Given the description of an element on the screen output the (x, y) to click on. 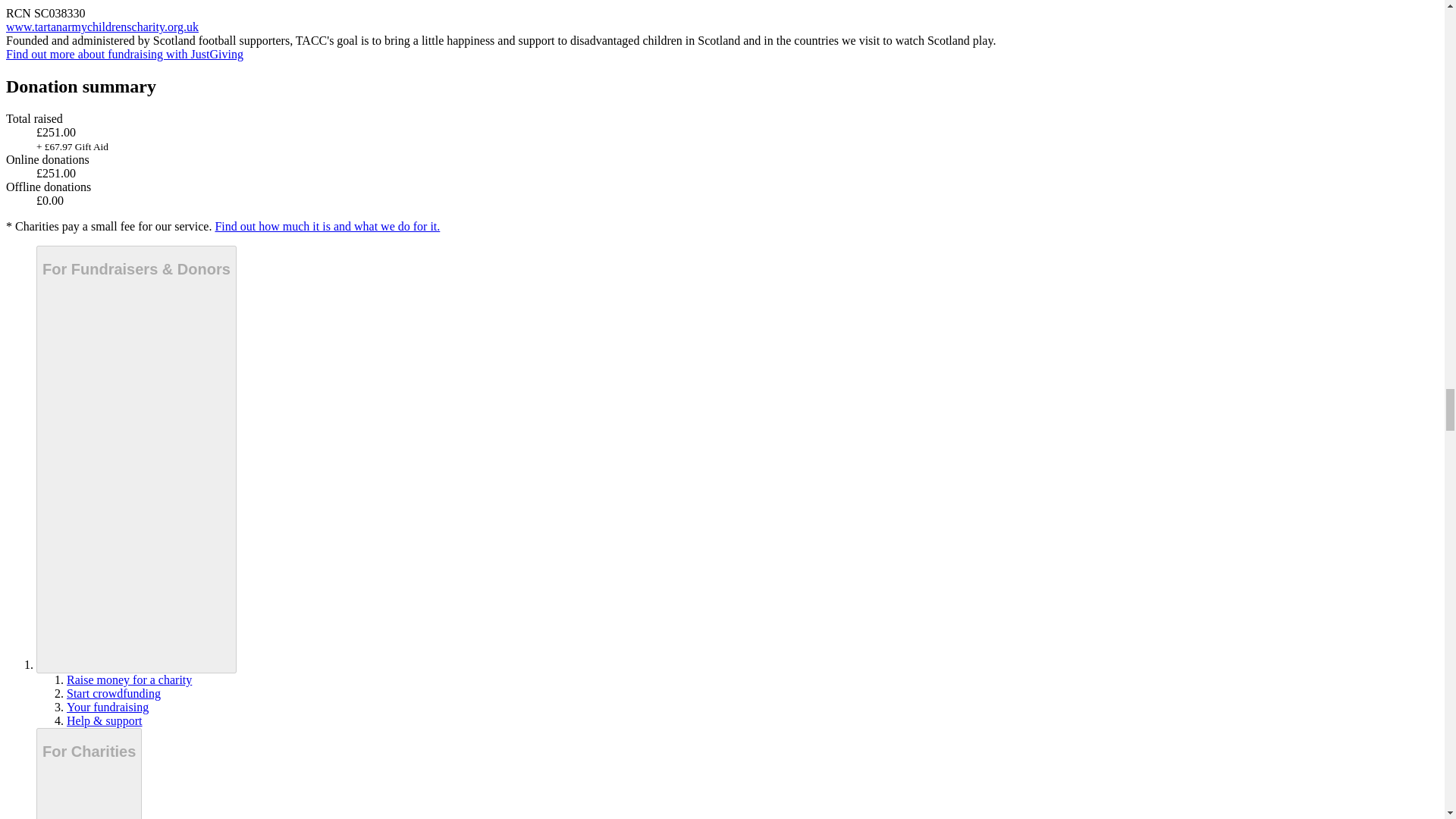
For Charities (88, 773)
Your fundraising (107, 707)
Find out how much it is and what we do for it. (326, 226)
Find out more about fundraising with JustGiving (124, 53)
Start crowdfunding (113, 693)
Raise money for a charity (129, 679)
www.tartanarmychildrenscharity.org.uk (101, 26)
